Given the description of an element on the screen output the (x, y) to click on. 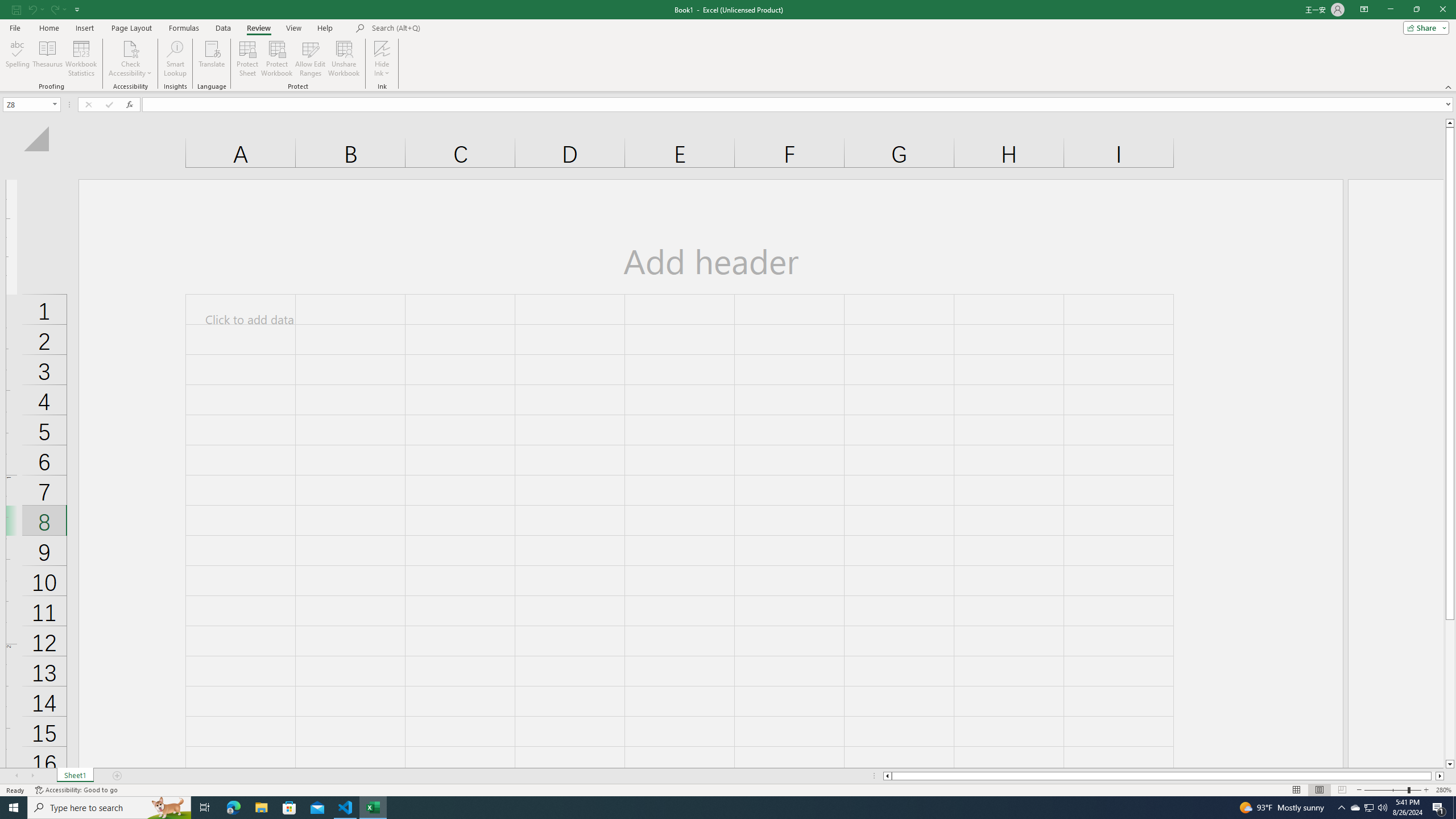
Microsoft search (450, 28)
Zoom Out (1385, 790)
View (293, 28)
Undo (35, 9)
Redo (57, 9)
Collapse the Ribbon (1448, 86)
Unshare Workbook (344, 58)
Quick Access Toolbar (46, 9)
Minimize (1390, 9)
Data (223, 28)
More Options (381, 68)
Column right (1440, 775)
Redo (53, 9)
Thesaurus... (47, 58)
Hide Ink (381, 58)
